Given the description of an element on the screen output the (x, y) to click on. 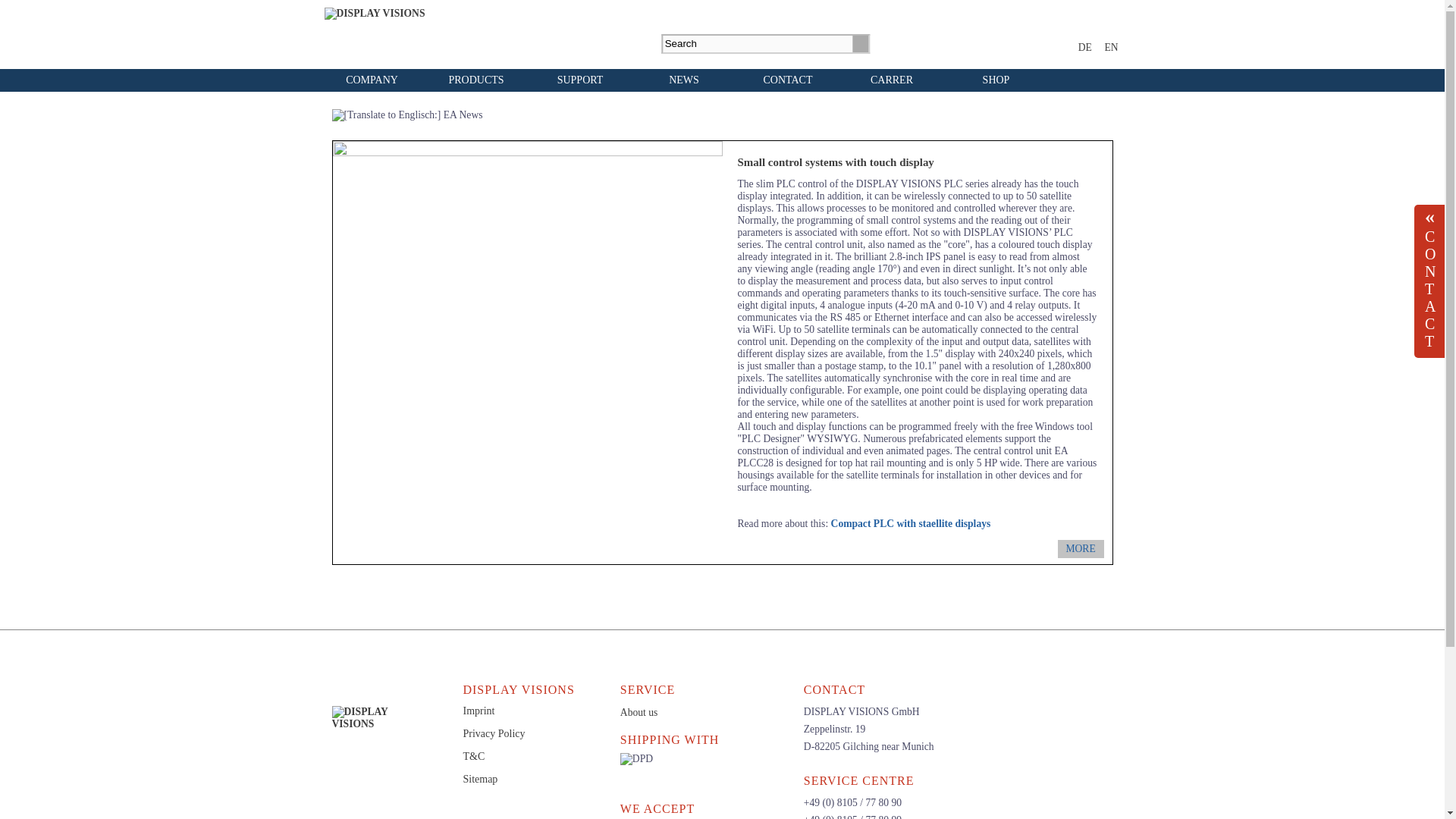
NEWS (684, 79)
EN (1110, 47)
zur deutschen Seite (1085, 47)
SUPPORT (579, 79)
COMPANY (372, 79)
Search (859, 43)
DE (1085, 47)
PRODUCTS (476, 79)
Search (859, 43)
